Given the description of an element on the screen output the (x, y) to click on. 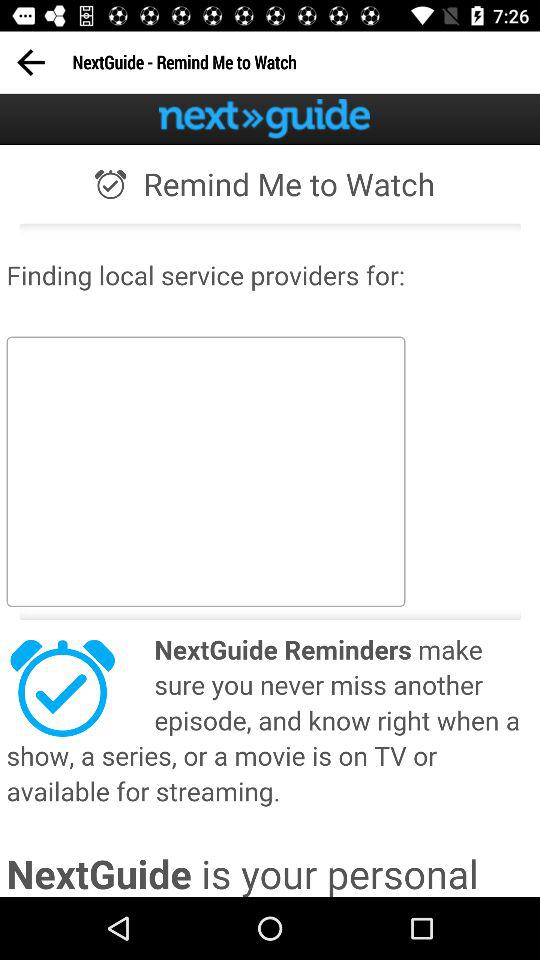
go to previous (30, 62)
